Given the description of an element on the screen output the (x, y) to click on. 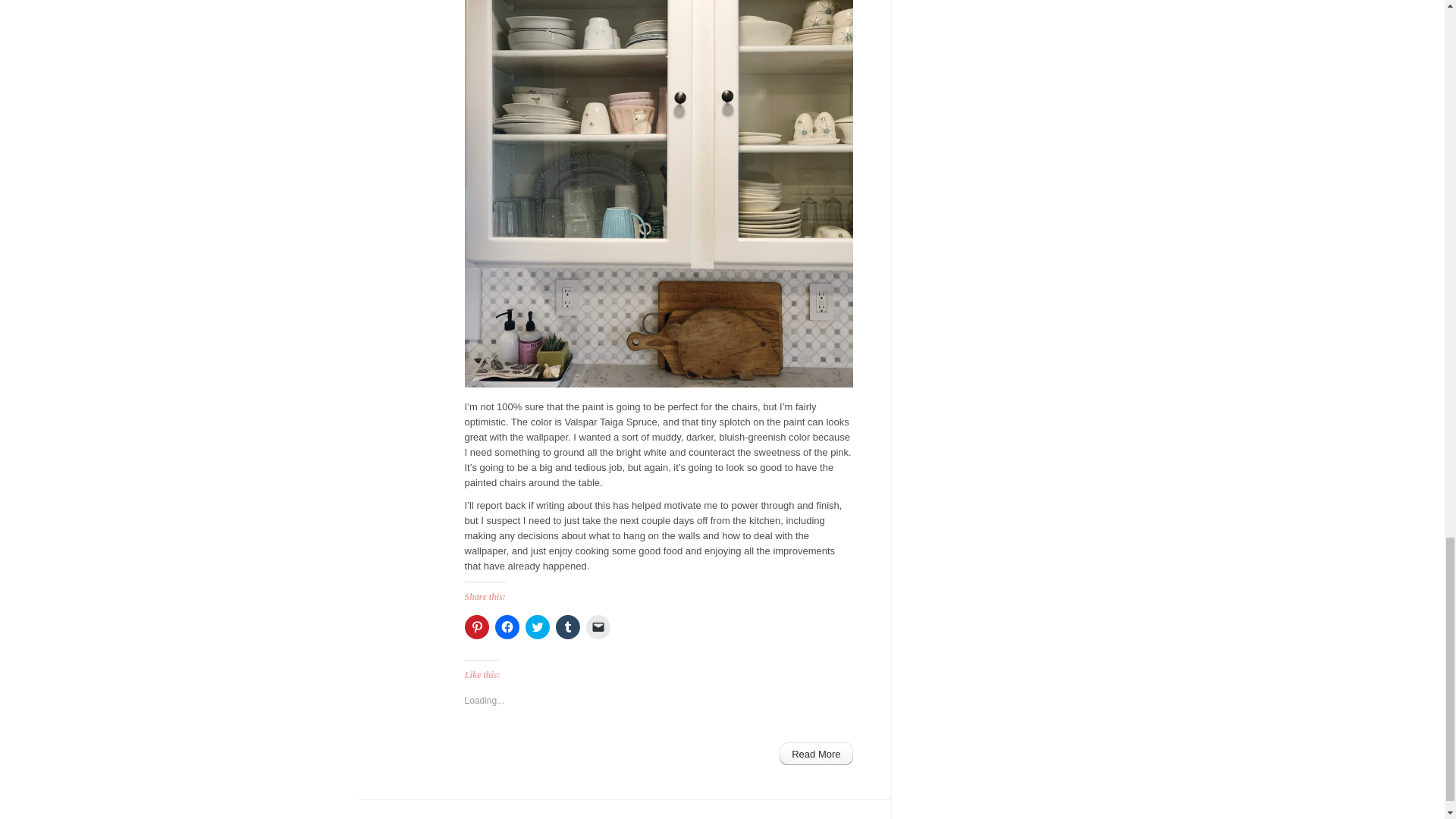
Click to email a link to a friend (597, 627)
Click to share on Pinterest (475, 627)
Click to share on Twitter (536, 627)
Click to share on Tumblr (566, 627)
Click to share on Facebook (506, 627)
Read More (814, 753)
